Given the description of an element on the screen output the (x, y) to click on. 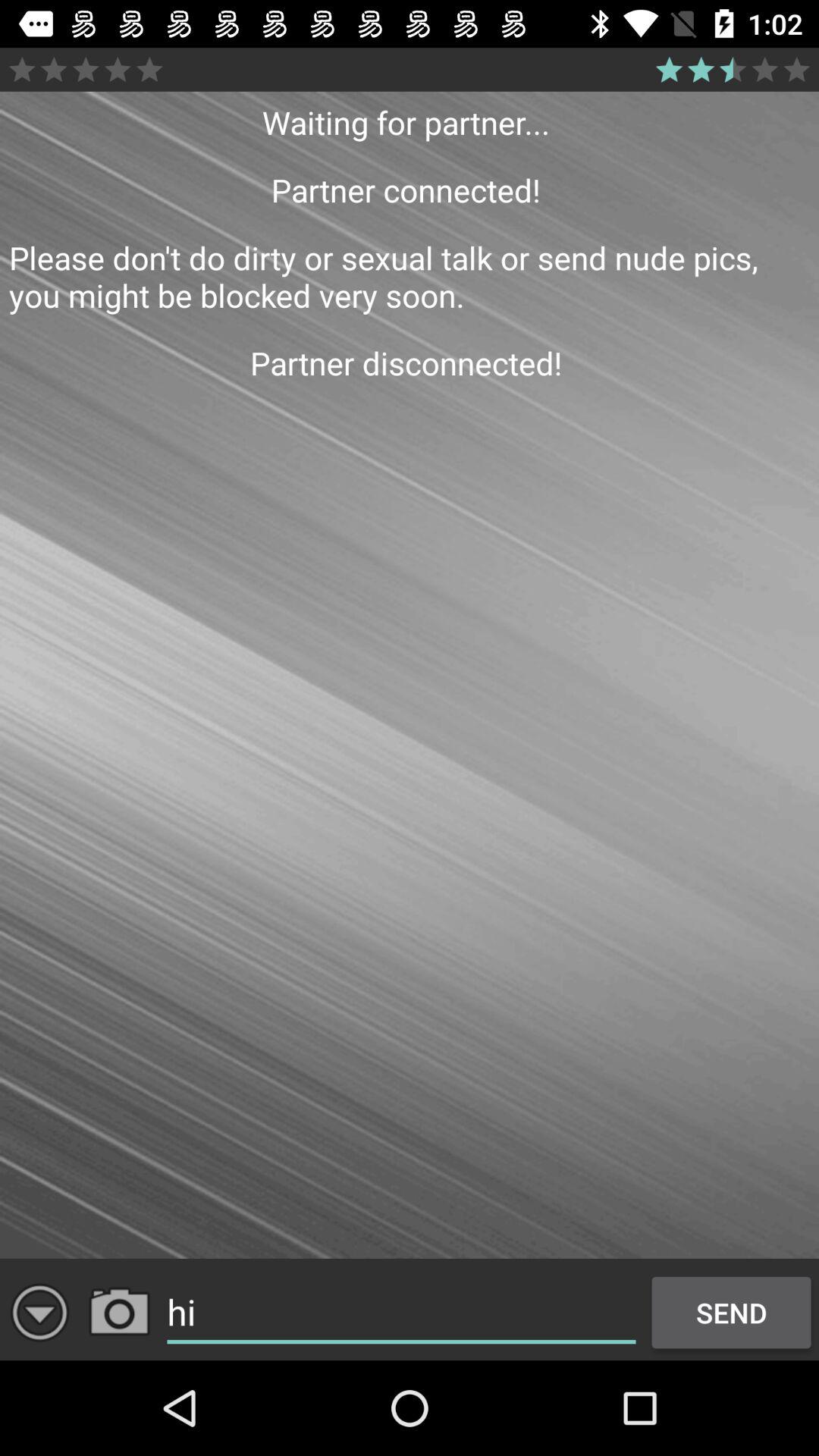
down arrow to open more options (39, 1312)
